Given the description of an element on the screen output the (x, y) to click on. 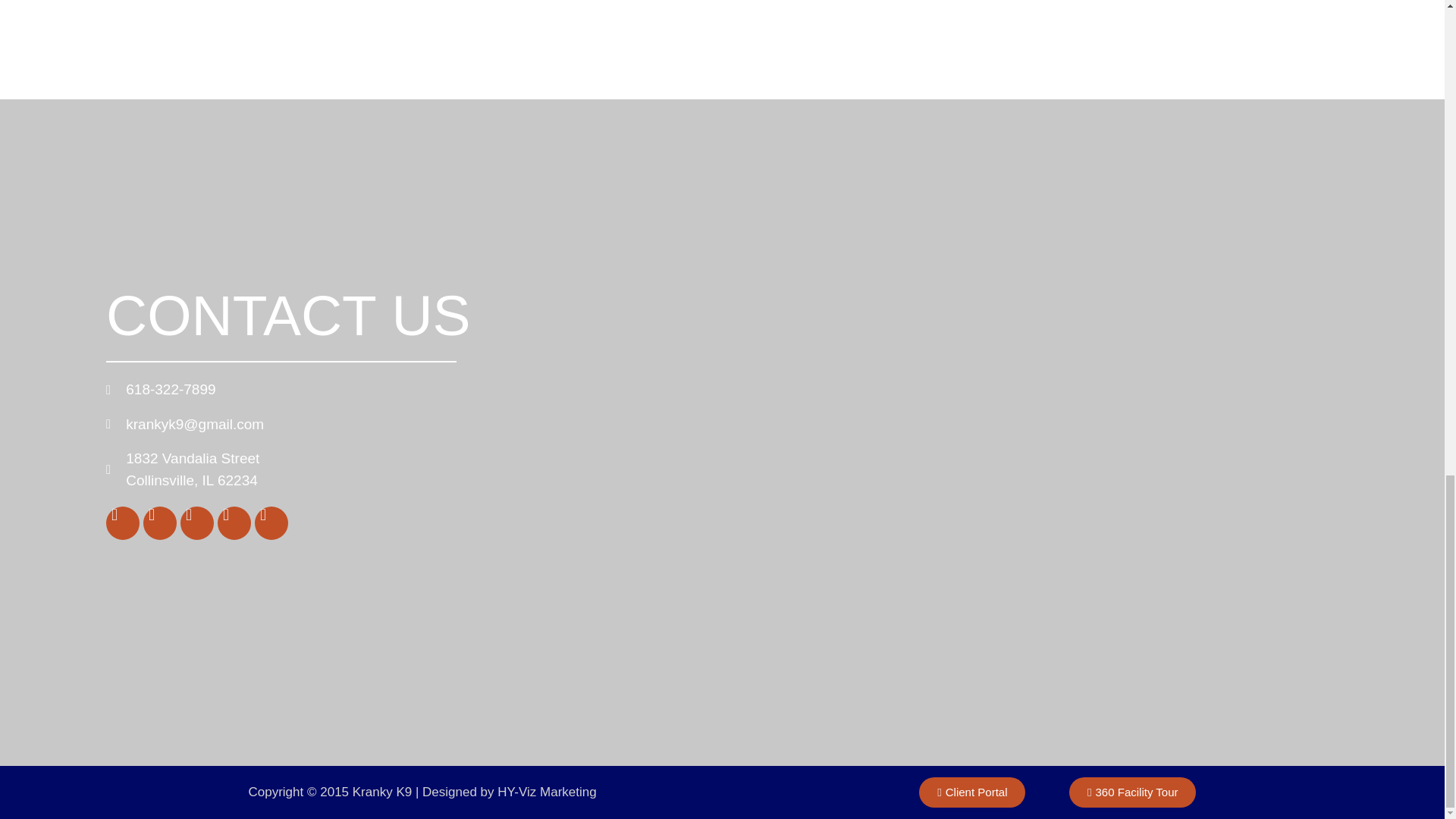
Client Portal (971, 792)
618-322-7899 (478, 390)
Scroll back to top (1406, 395)
Designed by HY-Viz Marketing (509, 791)
